Given the description of an element on the screen output the (x, y) to click on. 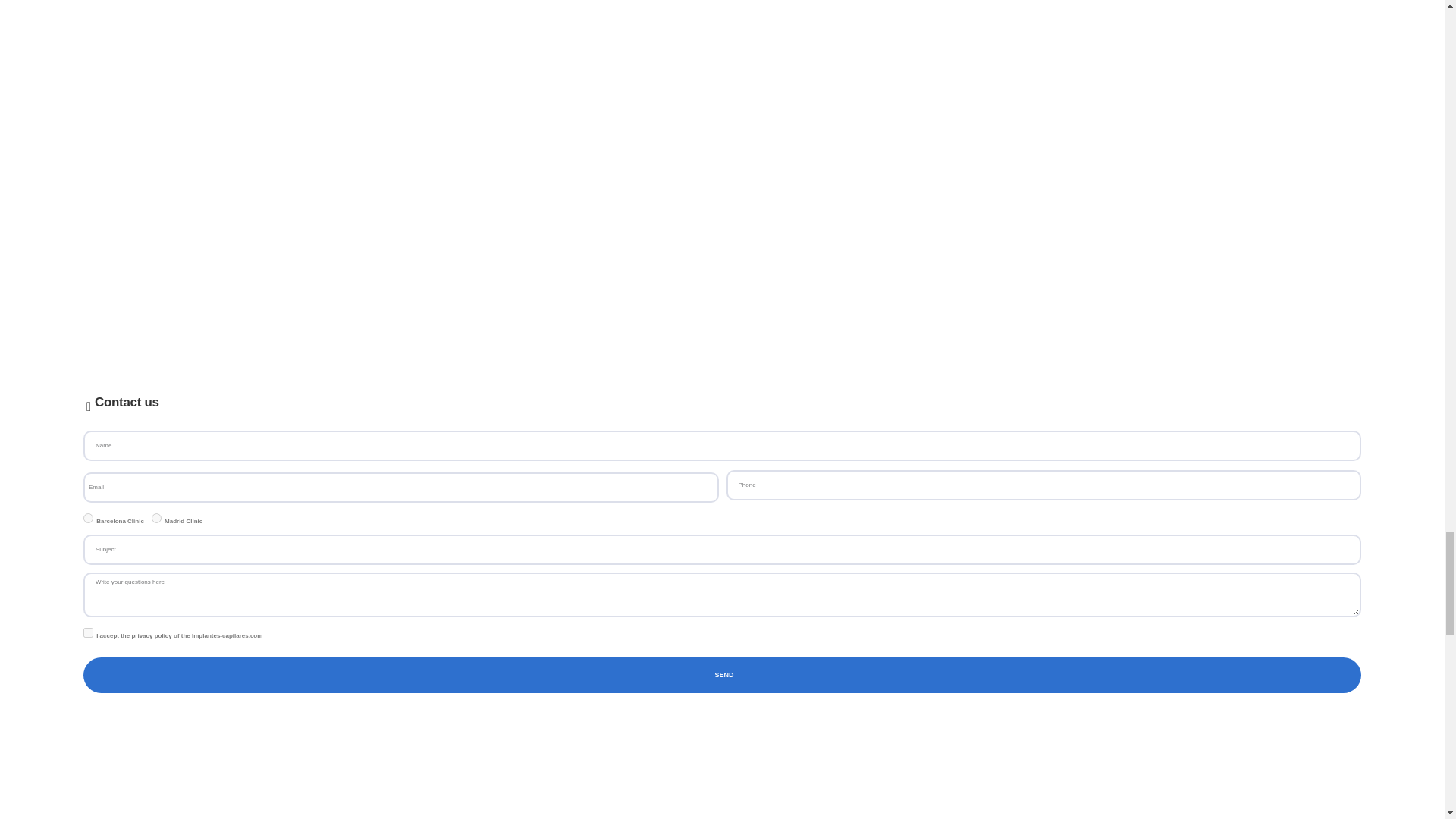
Madrid Clinic (156, 518)
Barcelona Clinic (87, 518)
on (87, 633)
